Given the description of an element on the screen output the (x, y) to click on. 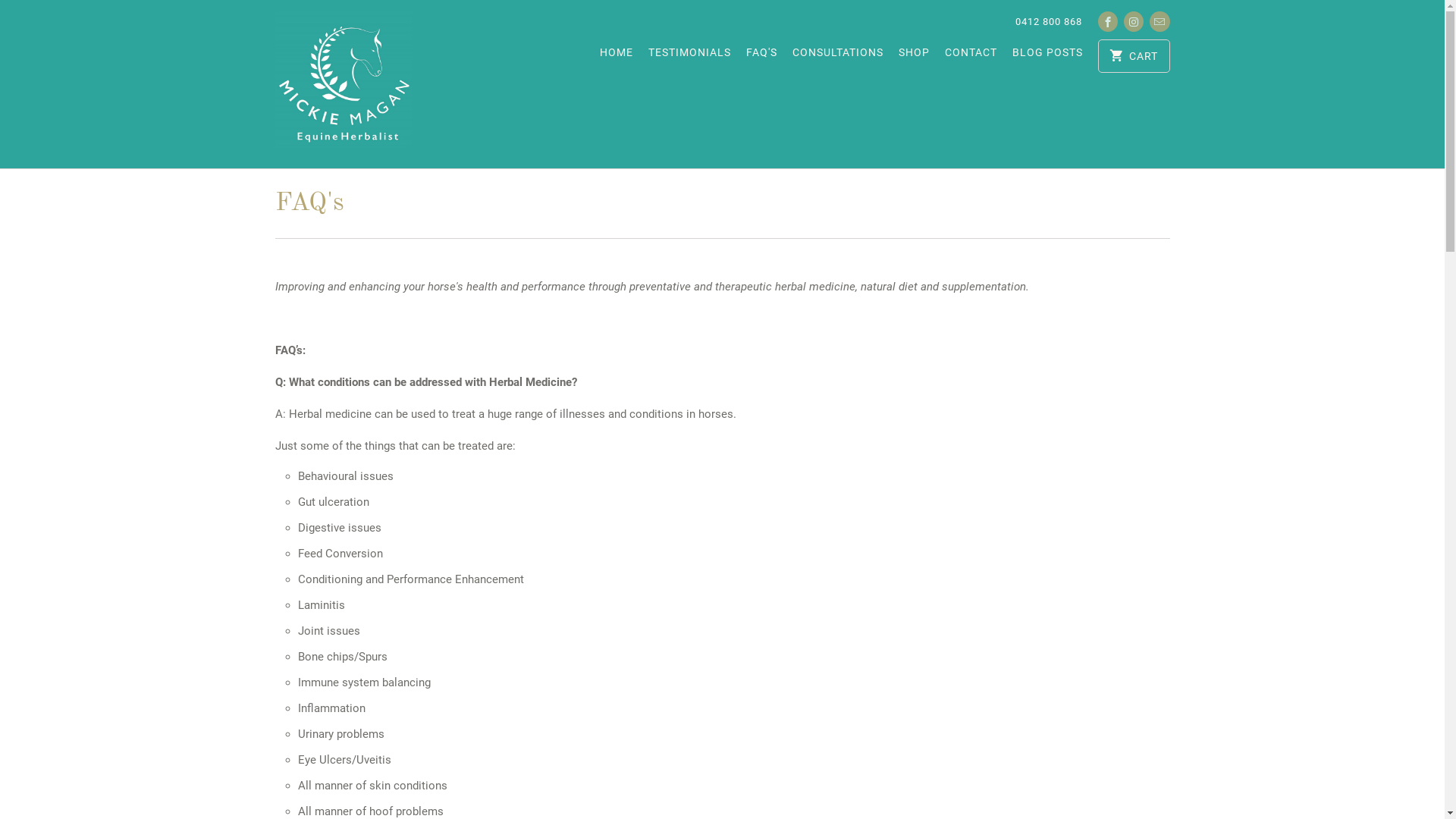
0412 800 868 Element type: text (1048, 21)
FAQ'S Element type: text (761, 55)
Email Mickie Magan Equine Herbalist Element type: hover (1159, 21)
SHOP Element type: text (913, 55)
CONTACT Element type: text (970, 55)
Mickie Magan Equine Herbalist on Facebook Element type: hover (1107, 21)
Mickie Magan Equine Herbalist Element type: hover (342, 83)
BLOG POSTS Element type: text (1047, 55)
HOME Element type: text (616, 55)
CONSULTATIONS Element type: text (837, 55)
CART Element type: text (1133, 55)
Mickie Magan Equine Herbalist on Instagram Element type: hover (1133, 21)
TESTIMONIALS Element type: text (689, 55)
